Given the description of an element on the screen output the (x, y) to click on. 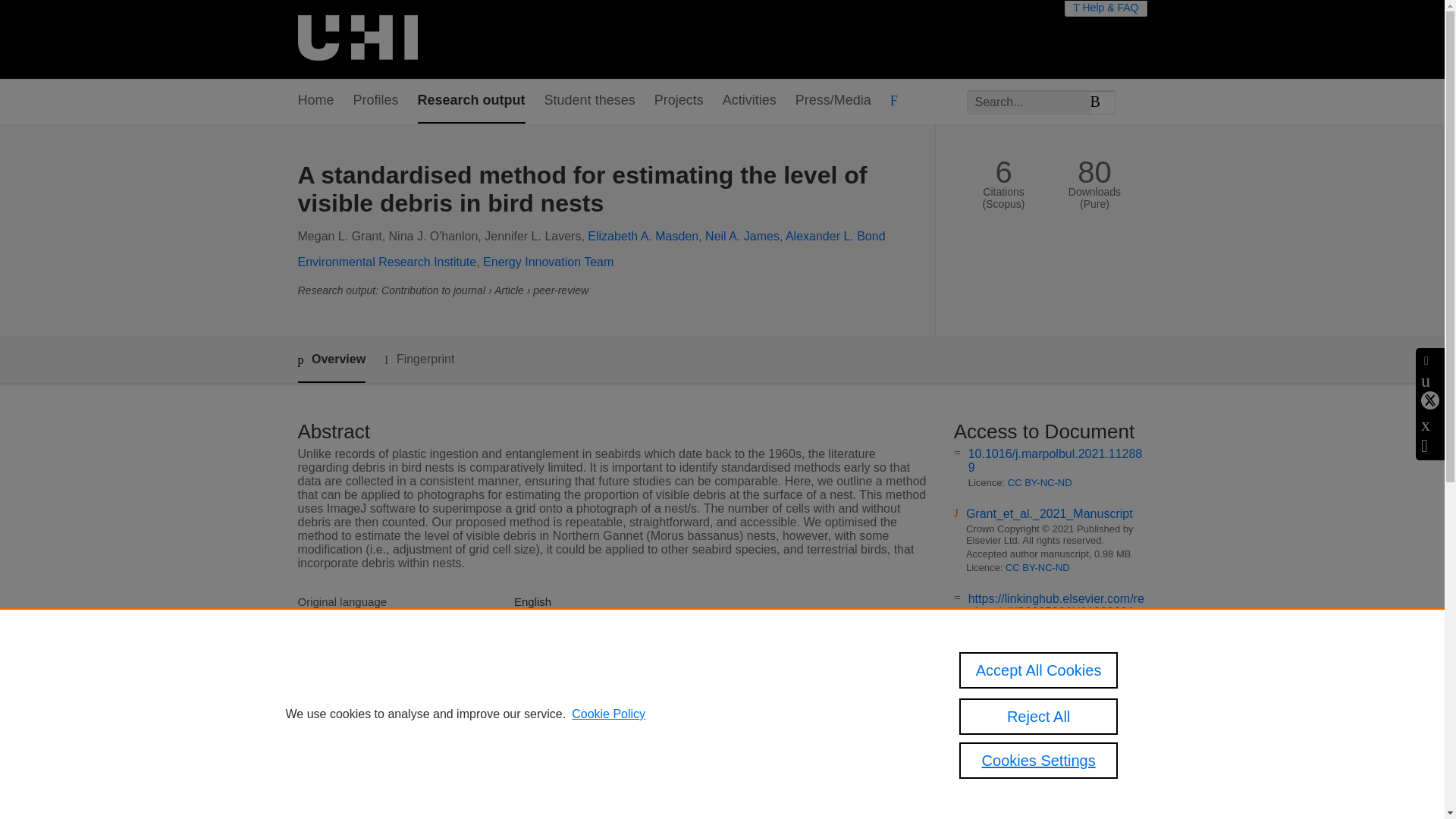
Student theses (589, 100)
CC BY-NC-ND (1038, 567)
Environmental Research Institute (386, 261)
CC BY-NC-ND (1039, 627)
Energy Innovation Team (547, 261)
Marine Pollution Bulletin (574, 635)
Research output (471, 100)
Neil A. James (741, 236)
Alexander L. Bond (835, 236)
